Given the description of an element on the screen output the (x, y) to click on. 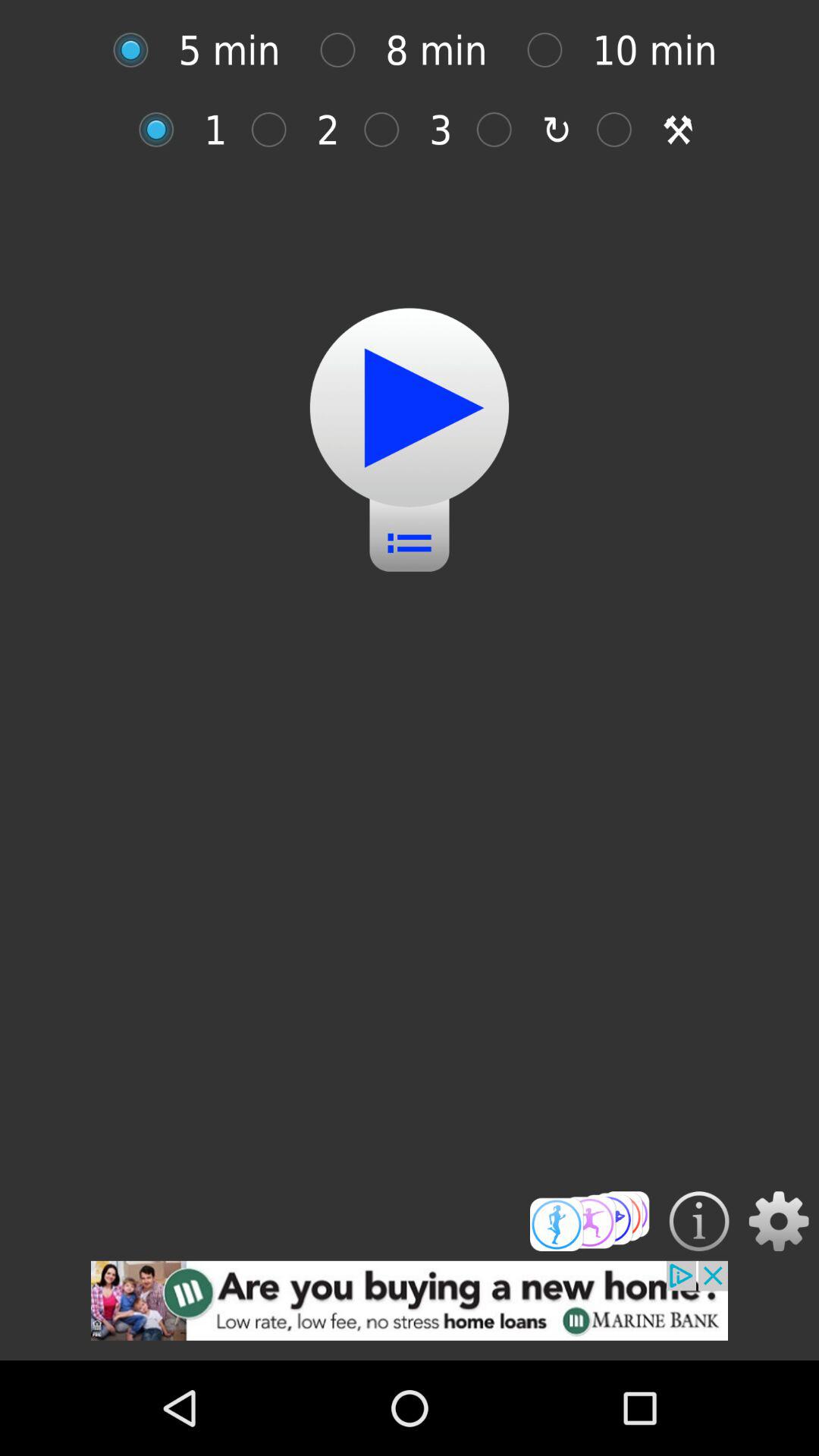
click on icon (389, 129)
